Given the description of an element on the screen output the (x, y) to click on. 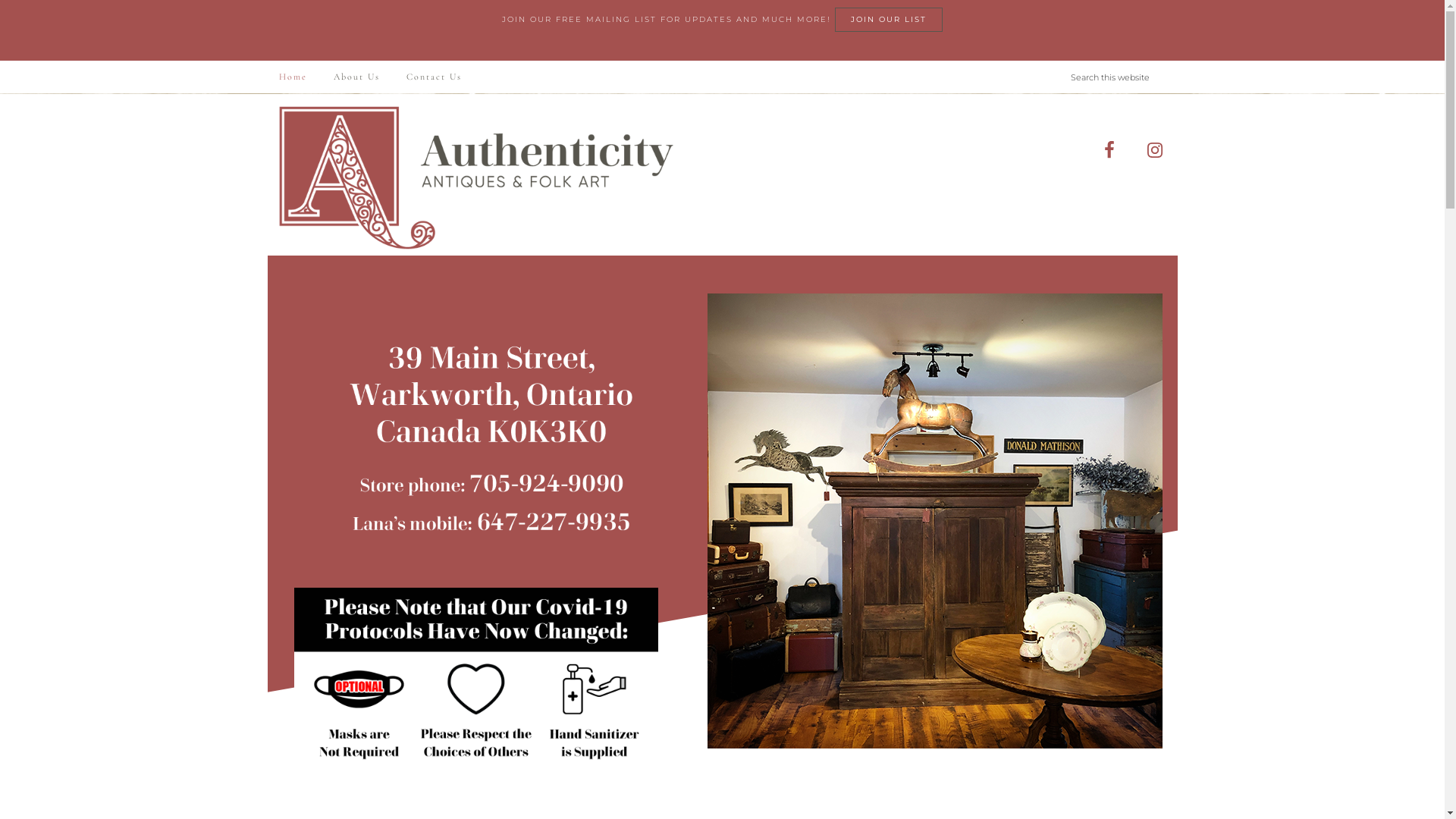
AUTHENTICITY ANTIQUES & FOLK ART Element type: text (390, 153)
Search Element type: text (1176, 59)
Contact Us Element type: text (433, 76)
JOIN OUR LIST Element type: text (888, 19)
Home Element type: text (291, 76)
About Us Element type: text (355, 76)
